Given the description of an element on the screen output the (x, y) to click on. 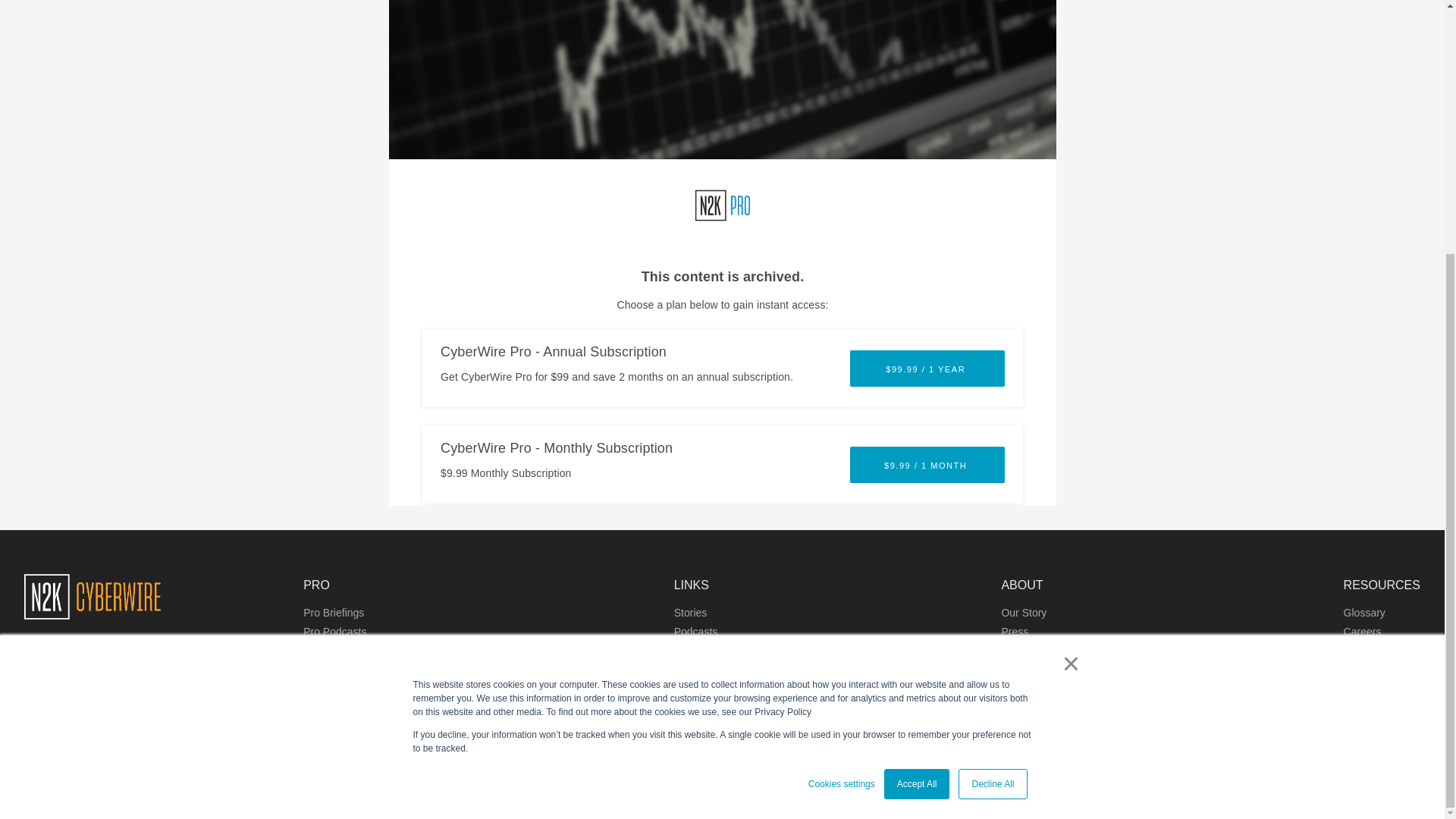
Decline All (992, 424)
Accept All (916, 424)
Cookies settings (841, 424)
